Given the description of an element on the screen output the (x, y) to click on. 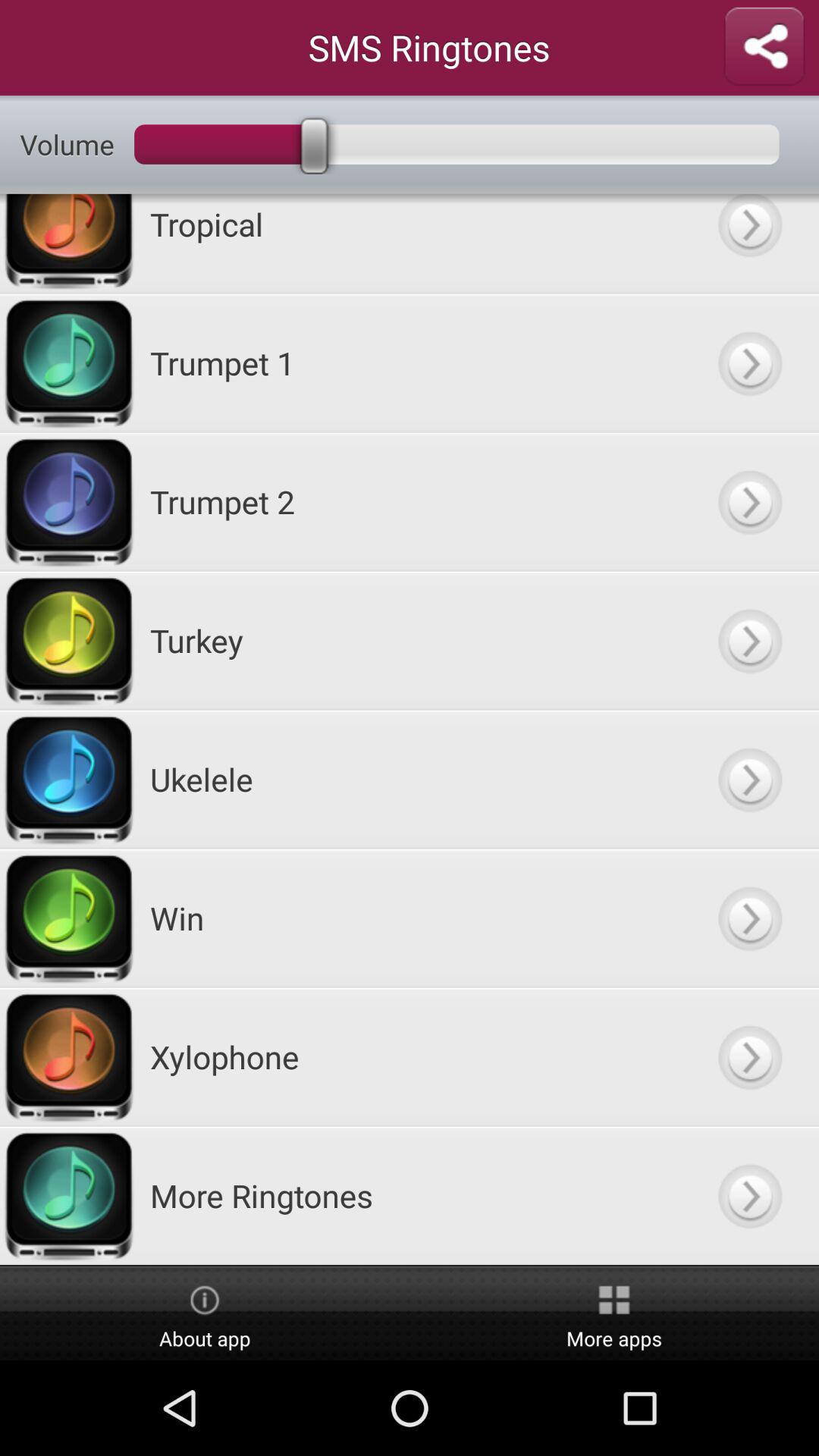
go to increase (749, 1056)
